Given the description of an element on the screen output the (x, y) to click on. 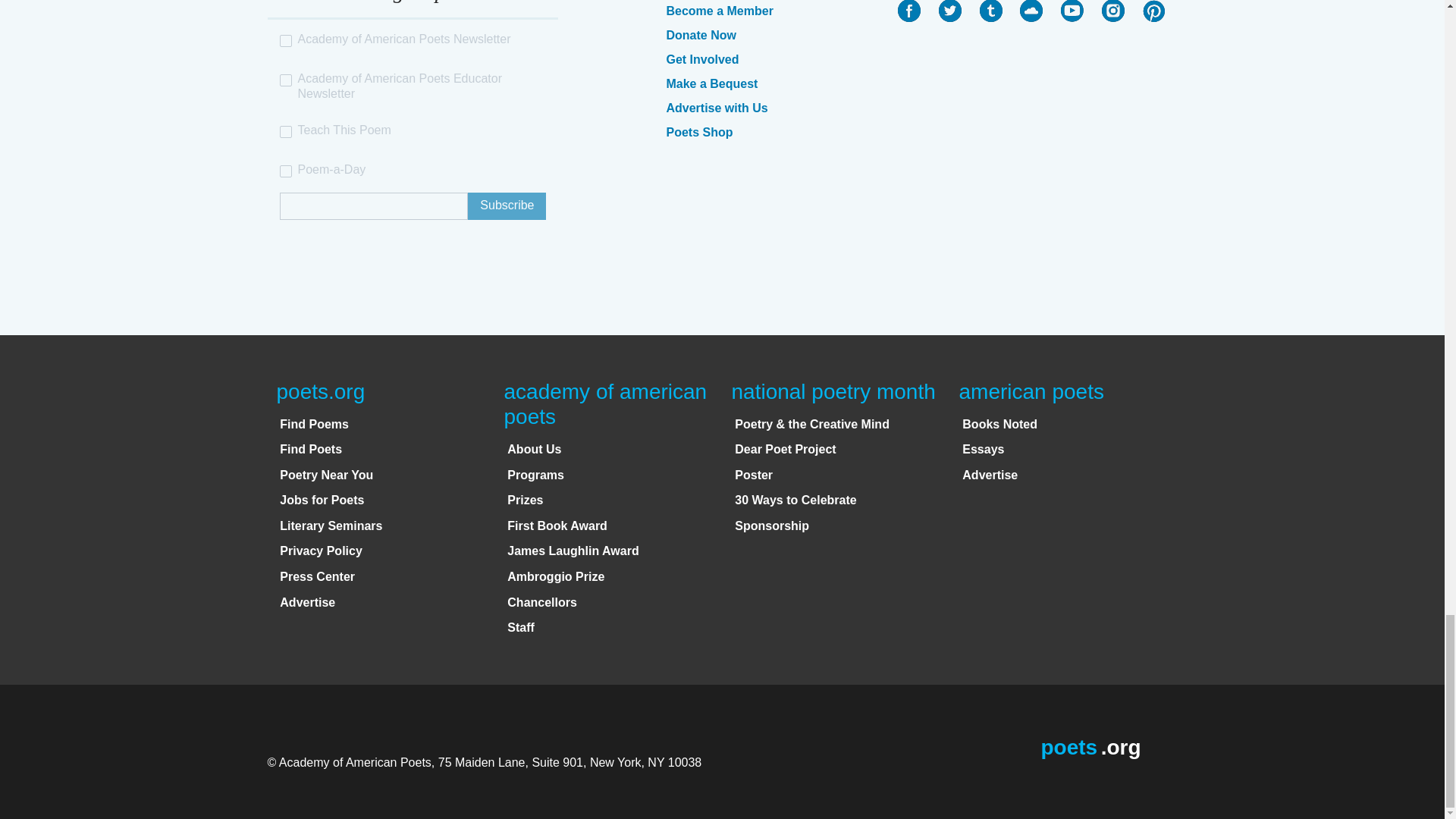
Poetry Near You (325, 474)
Subscribe (506, 206)
